Given the description of an element on the screen output the (x, y) to click on. 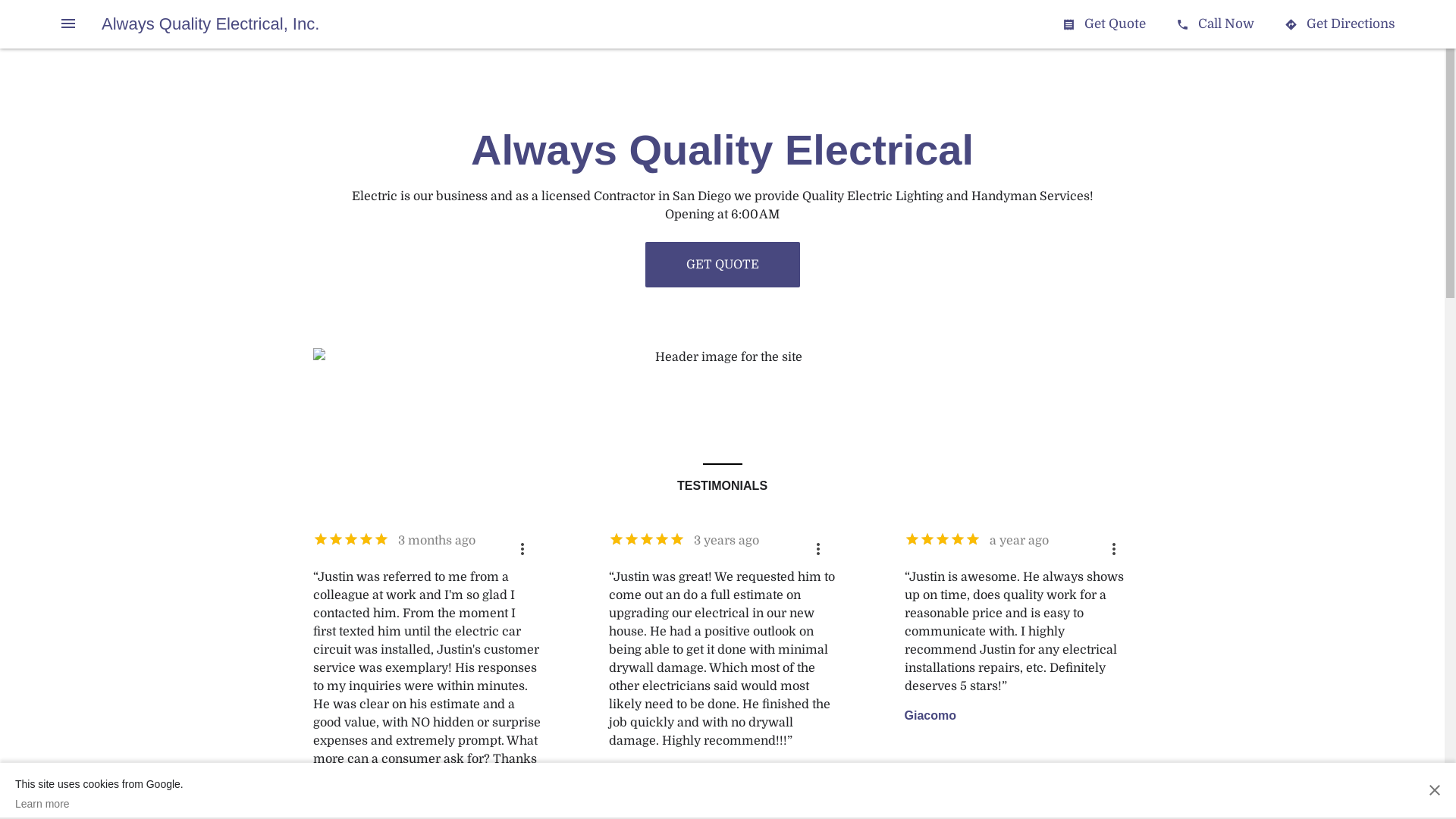
Learn more Element type: text (99, 803)
Always Quality Electrical, Inc. Element type: text (210, 23)
GET QUOTE Element type: text (721, 264)
